Given the description of an element on the screen output the (x, y) to click on. 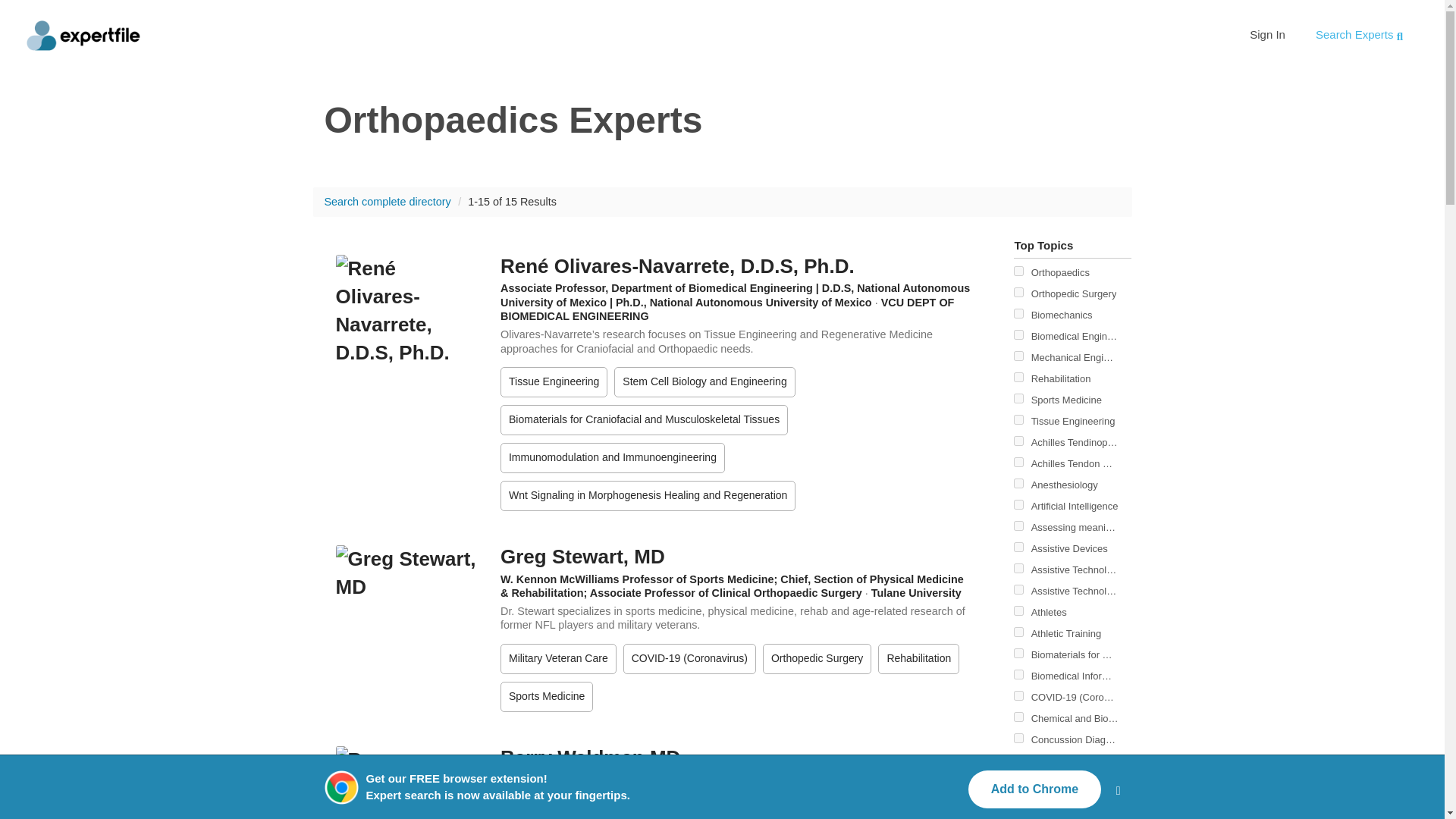
Assistive Technologies (1072, 570)
Orthopaedics (1058, 273)
Biomedical Engineering (1065, 336)
Anesthesiology (1018, 483)
Athletes (1047, 612)
Mechanical Engineering (1065, 357)
Biomechanics (1018, 313)
Tissue Engineering (1071, 421)
Mechanical Engineering (1072, 357)
Sign In (1267, 33)
